Given the description of an element on the screen output the (x, y) to click on. 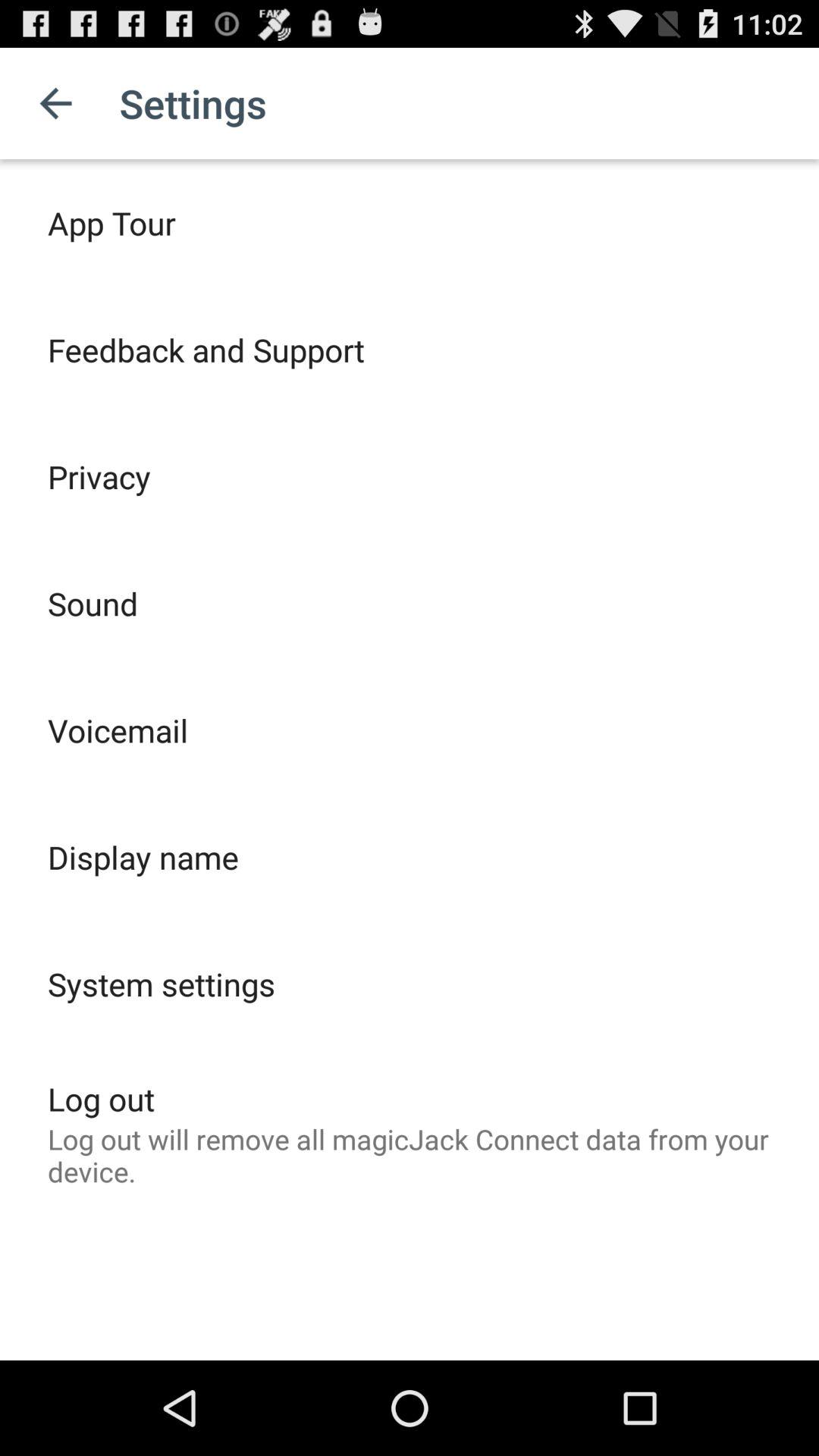
scroll to privacy (98, 476)
